Given the description of an element on the screen output the (x, y) to click on. 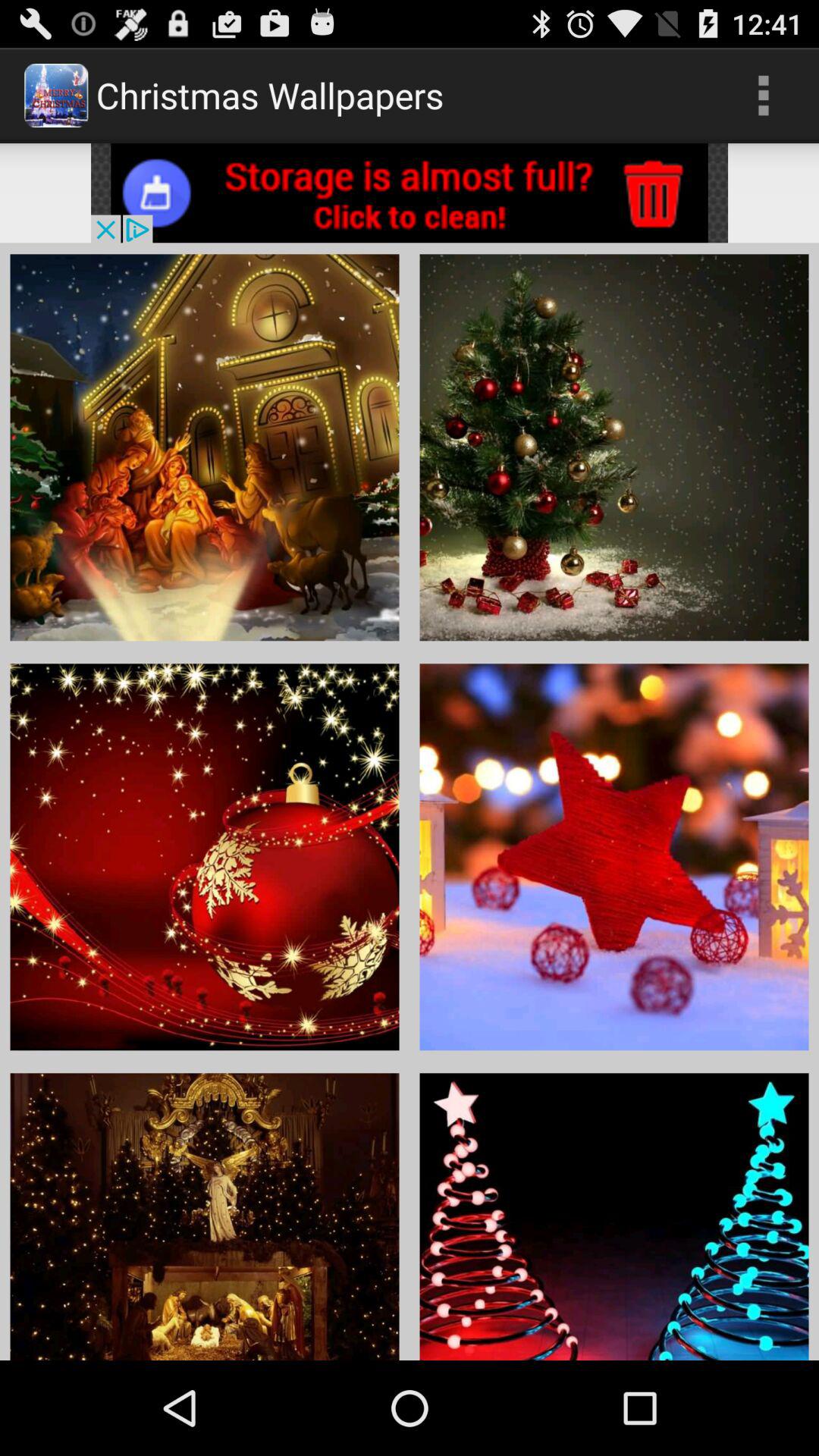
banner advertisement (409, 192)
